Given the description of an element on the screen output the (x, y) to click on. 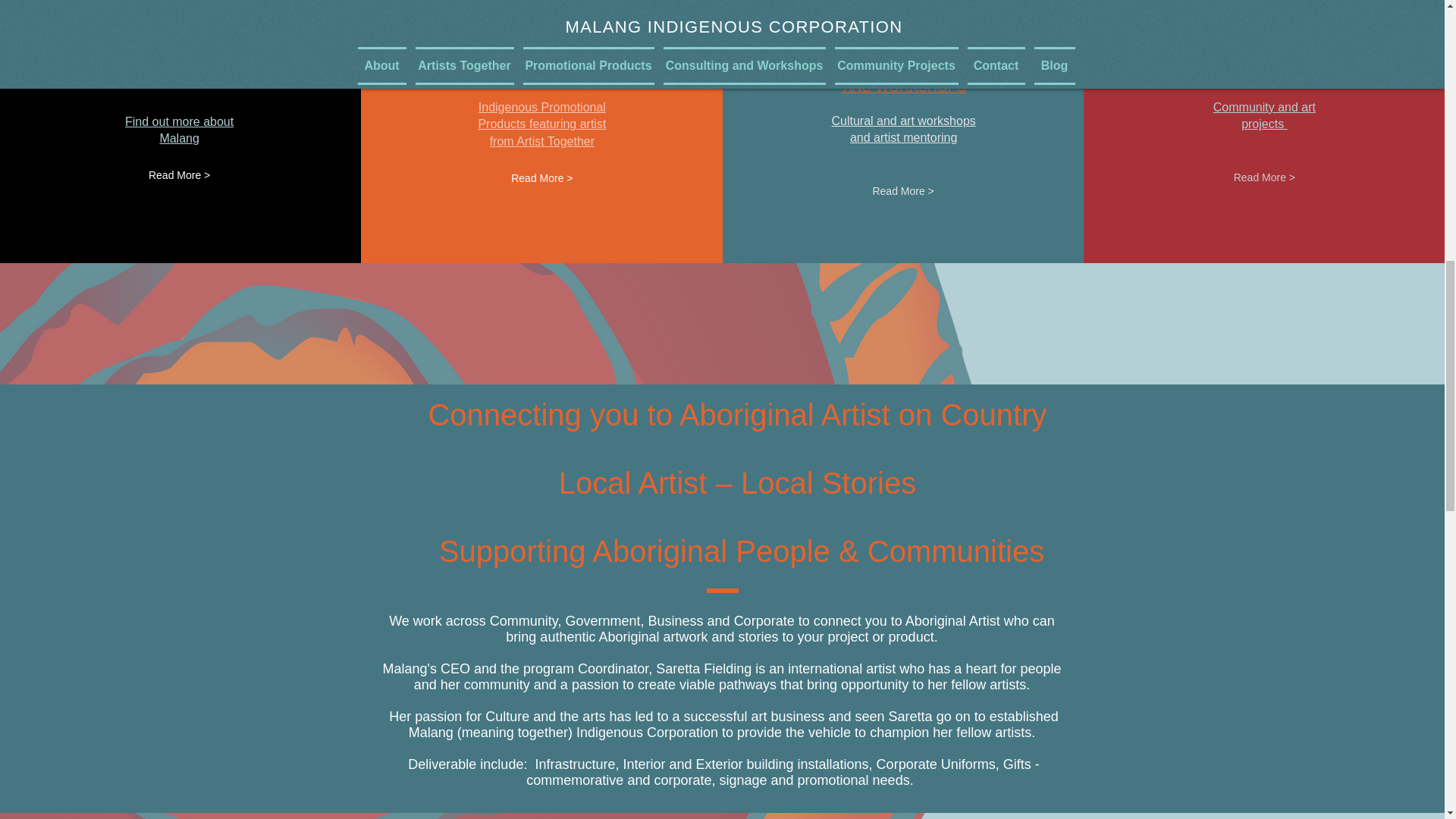
Find out more about Malang (178, 129)
 AND WORKSHOPS (903, 87)
Community and art projects  (1264, 115)
Cultural and art workshops and artist mentoring (903, 129)
PROMOTIONAL PRODUCTS (541, 73)
About us (182, 73)
Consulting (903, 73)
COMMUNITY PROJECTS (1263, 73)
